Given the description of an element on the screen output the (x, y) to click on. 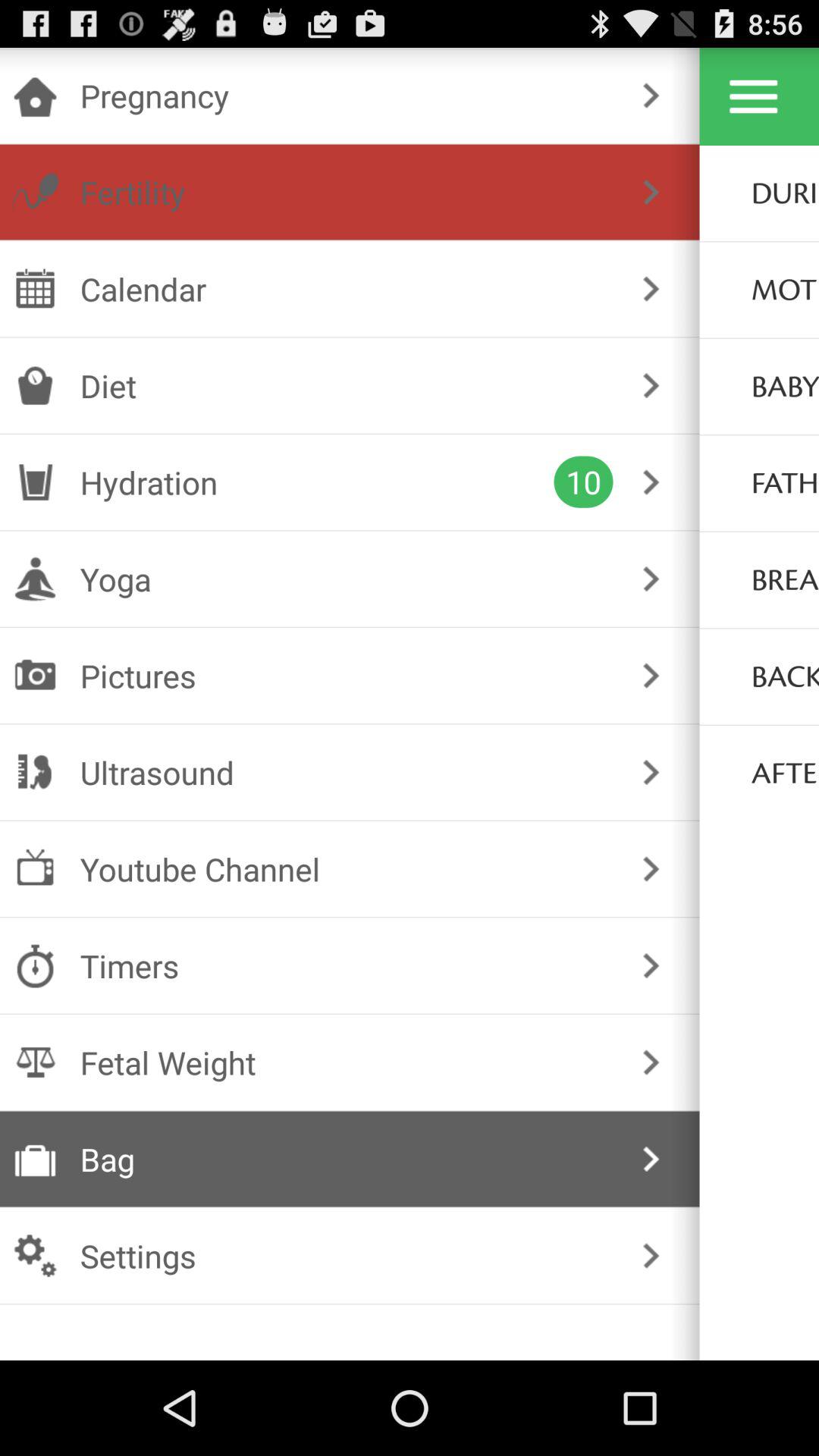
press the pictures icon (346, 675)
